Given the description of an element on the screen output the (x, y) to click on. 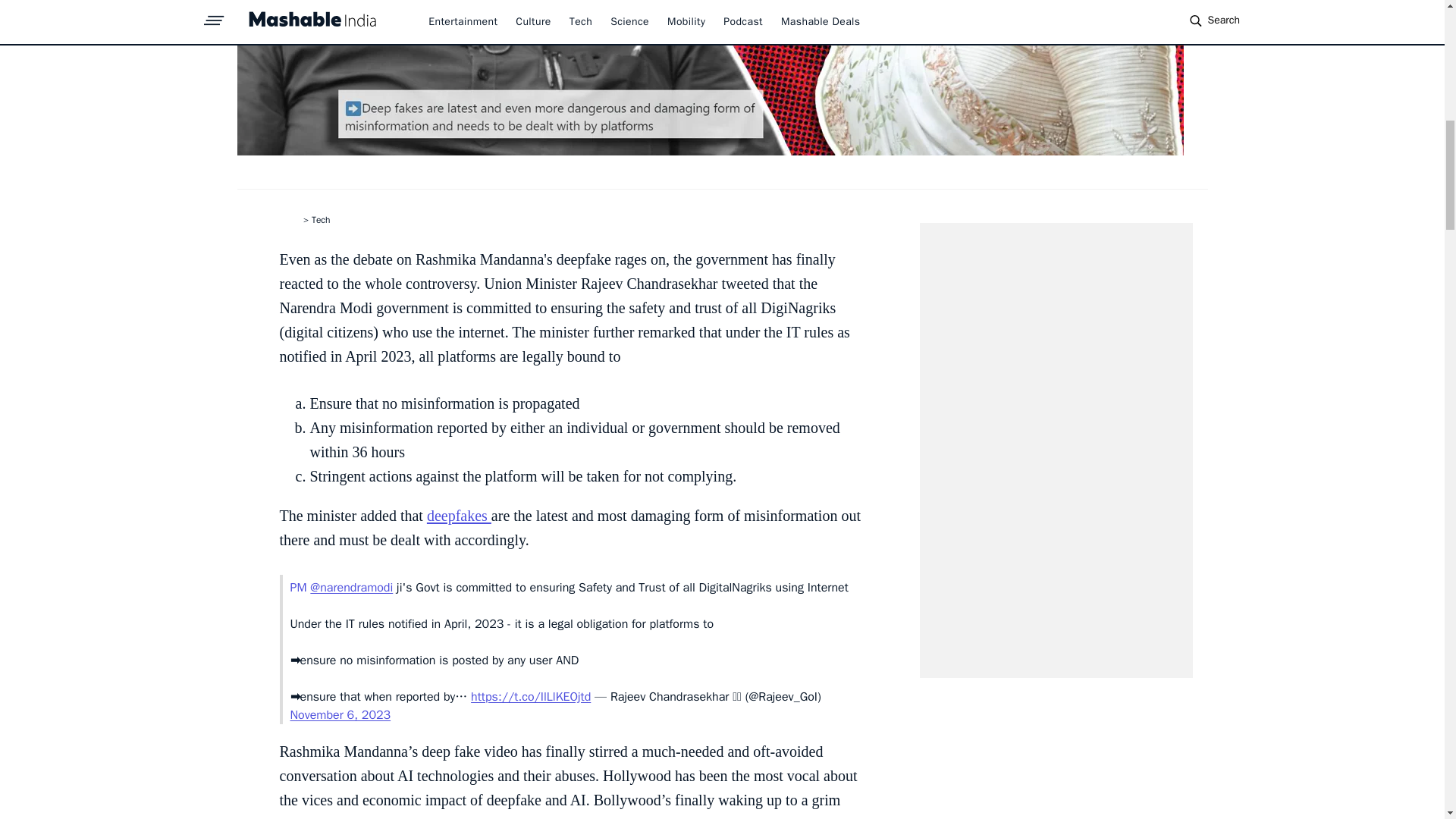
PM (299, 587)
November 6, 2023 (339, 714)
deepfakes (459, 515)
